Given the description of an element on the screen output the (x, y) to click on. 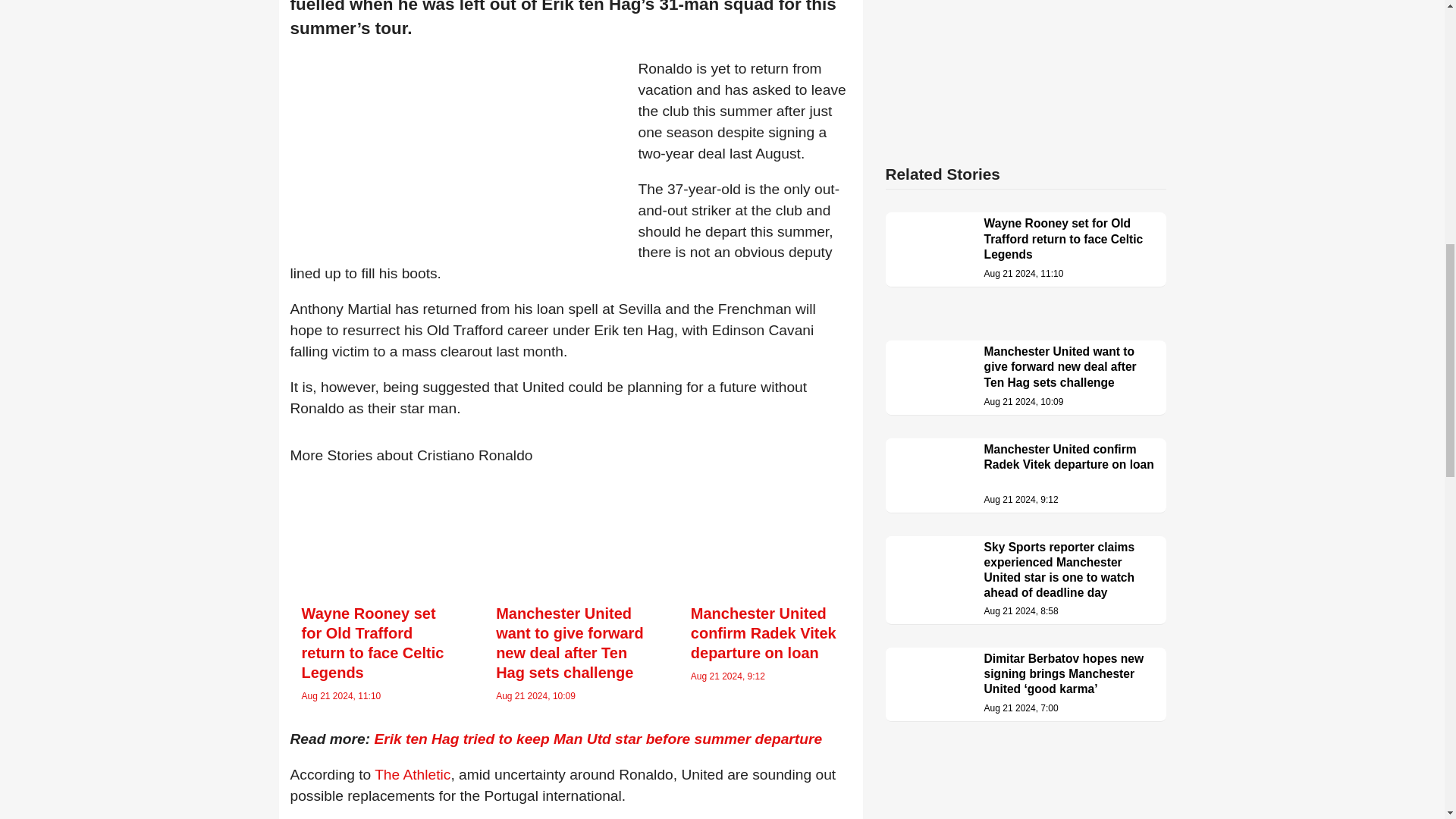
Manchester United confirm Radek Vitek departure on loan (762, 632)
Aug 21 2024, 10:09 (535, 696)
Aug 21 2024, 9:12 (727, 675)
Aug 21 2024, 11:10 (341, 696)
The Athletic (411, 774)
